Given the description of an element on the screen output the (x, y) to click on. 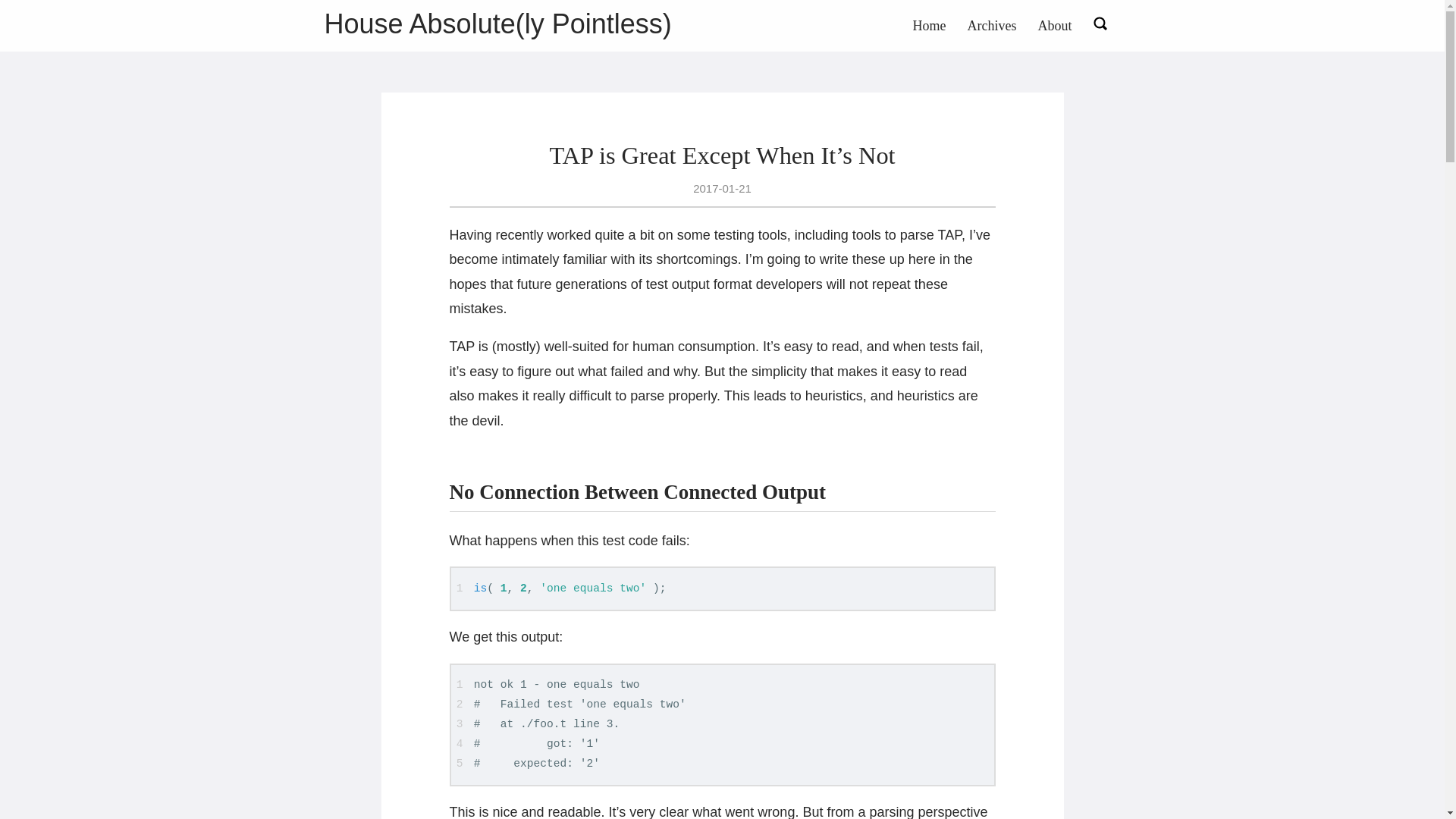
About (1053, 25)
Archives (992, 25)
Home (929, 25)
